Given the description of an element on the screen output the (x, y) to click on. 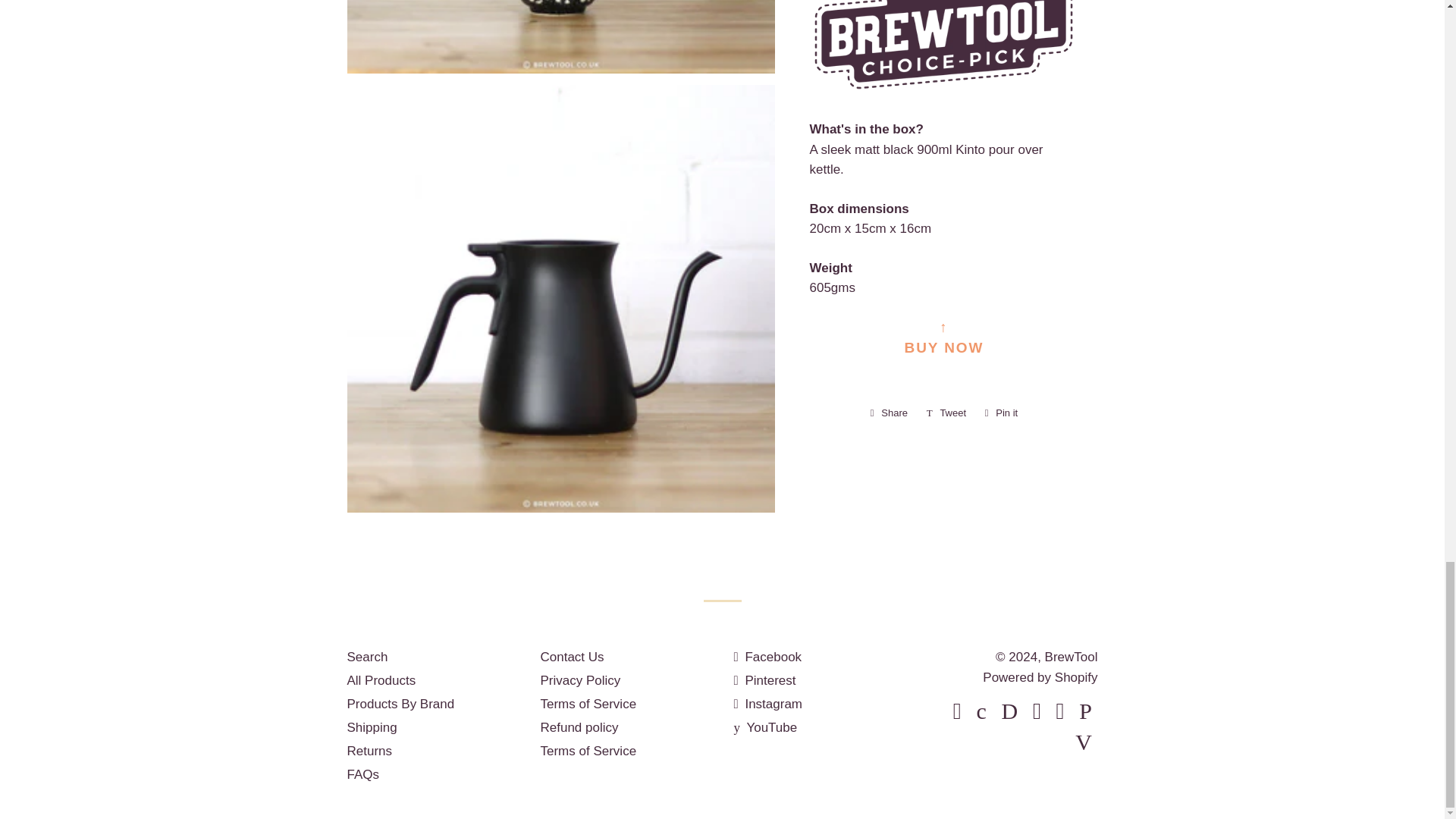
Tweet on Twitter (946, 413)
BrewTool on YouTube (765, 727)
Pin on Pinterest (1000, 413)
BrewTool on Facebook (767, 657)
BrewTool on Instagram (768, 703)
Share on Facebook (889, 413)
BrewTool on Pinterest (764, 680)
